Given the description of an element on the screen output the (x, y) to click on. 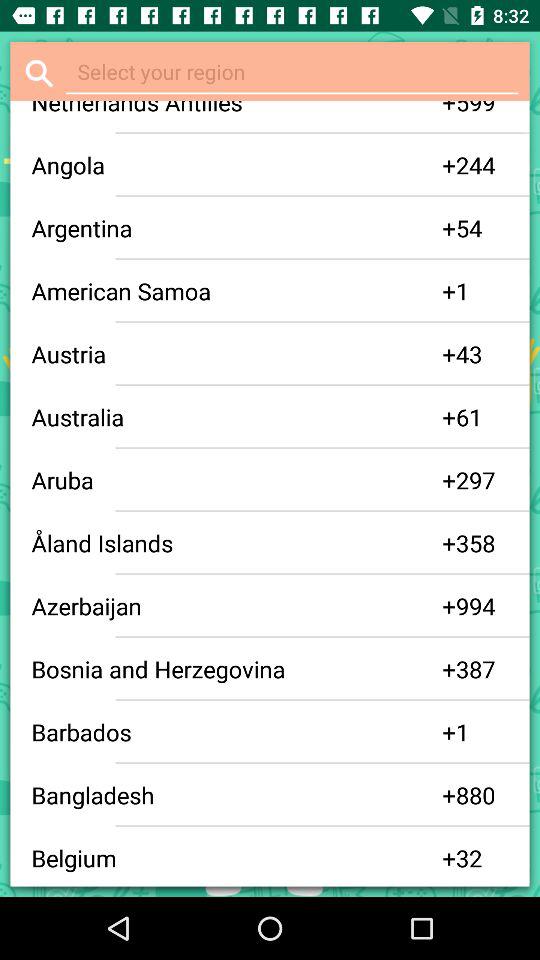
tap 54 (482, 228)
